Given the description of an element on the screen output the (x, y) to click on. 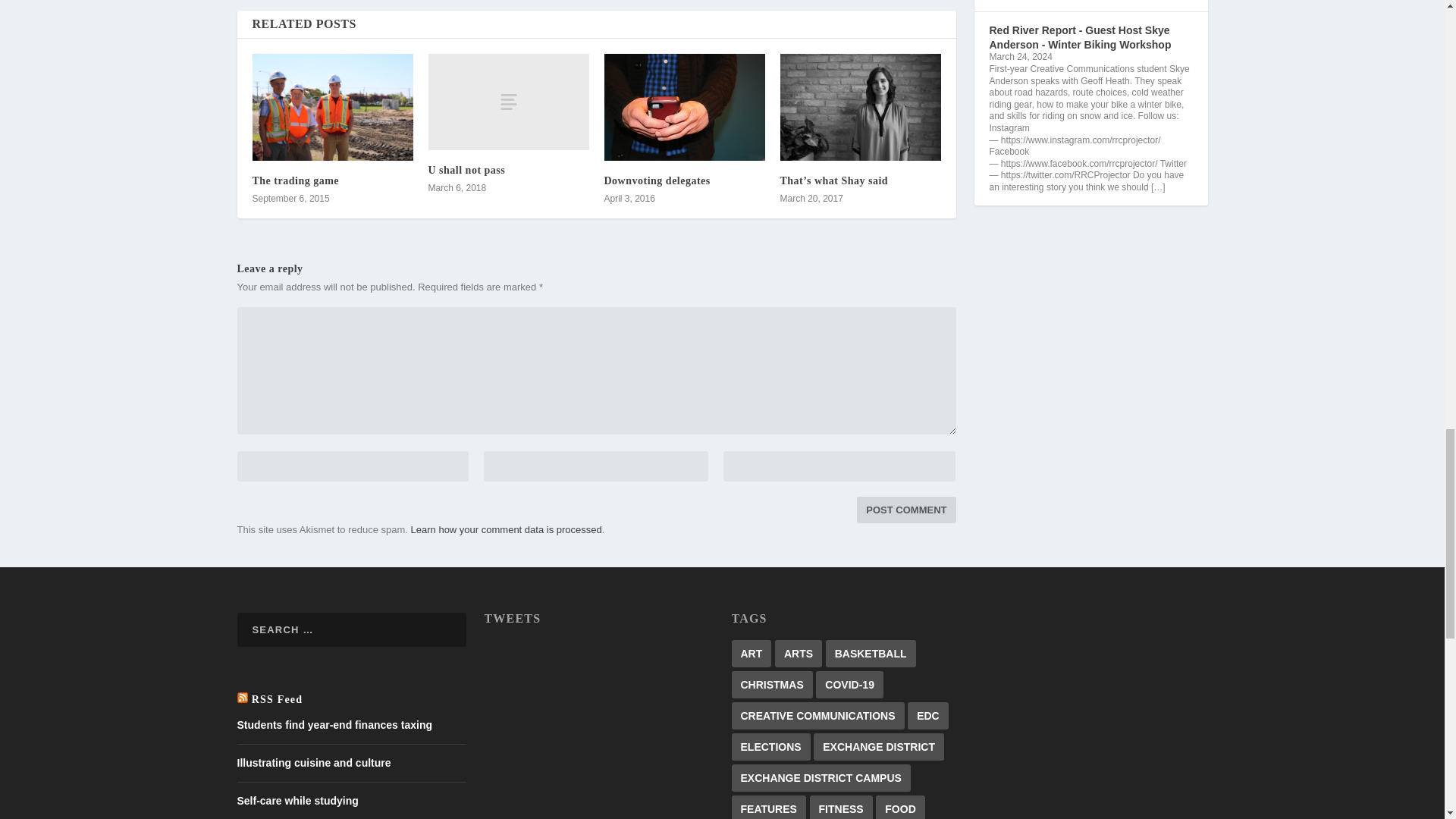
Post Comment (906, 509)
The trading game (295, 180)
